Given the description of an element on the screen output the (x, y) to click on. 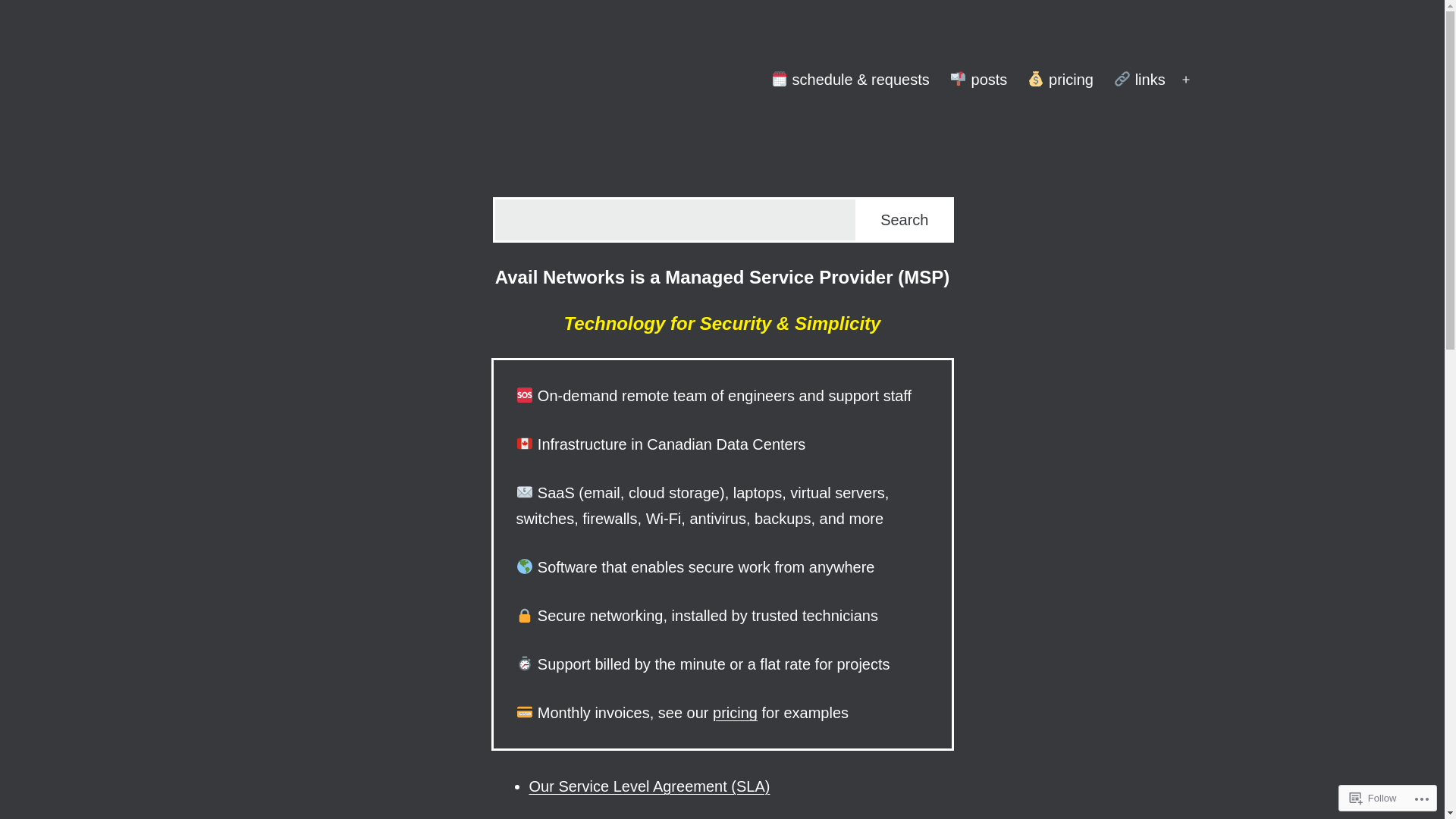
Our Service Level Agreement (SLA) Element type: text (649, 786)
Search Element type: text (904, 219)
schedule & requests Element type: text (849, 80)
posts Element type: text (978, 80)
links Element type: text (1139, 80)
pricing Element type: text (734, 712)
Follow Element type: text (1372, 797)
pricing Element type: text (1060, 80)
